Given the description of an element on the screen output the (x, y) to click on. 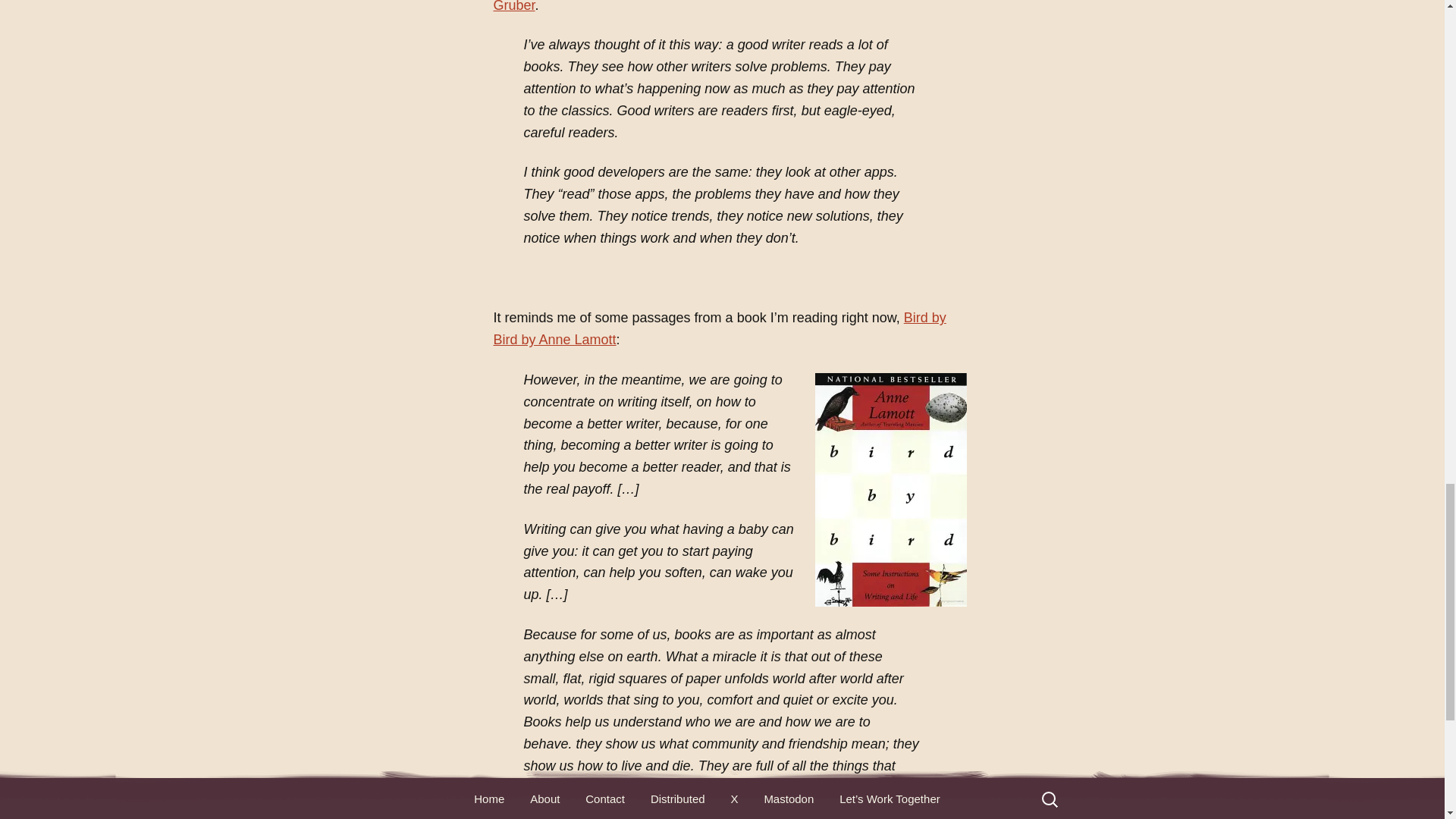
an interview with John Gruber (710, 6)
Bird by Bird by Anne Lamott (718, 328)
